Given the description of an element on the screen output the (x, y) to click on. 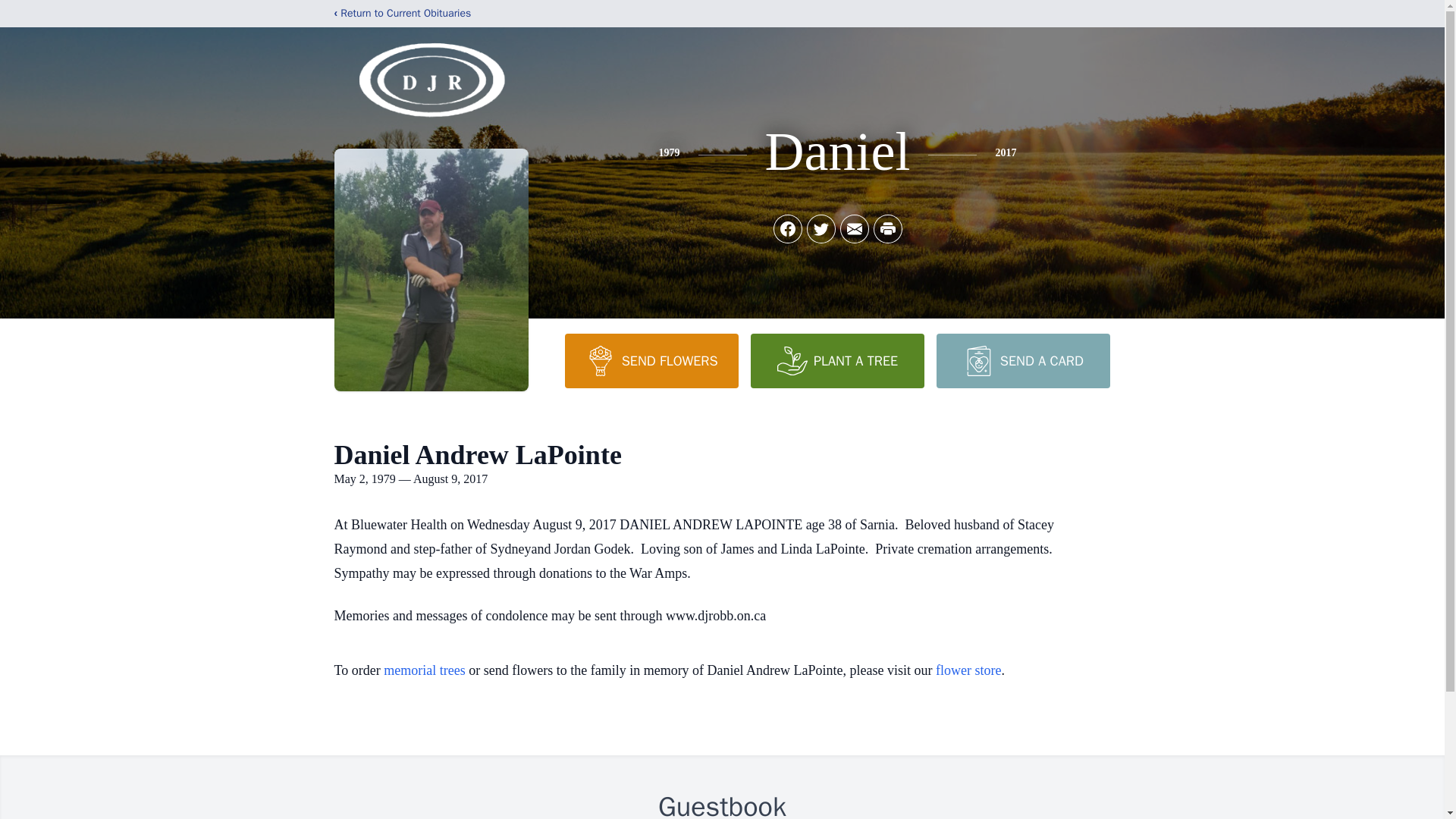
SEND FLOWERS (651, 360)
flower store (968, 670)
PLANT A TREE (837, 360)
SEND A CARD (1022, 360)
memorial trees (424, 670)
